Given the description of an element on the screen output the (x, y) to click on. 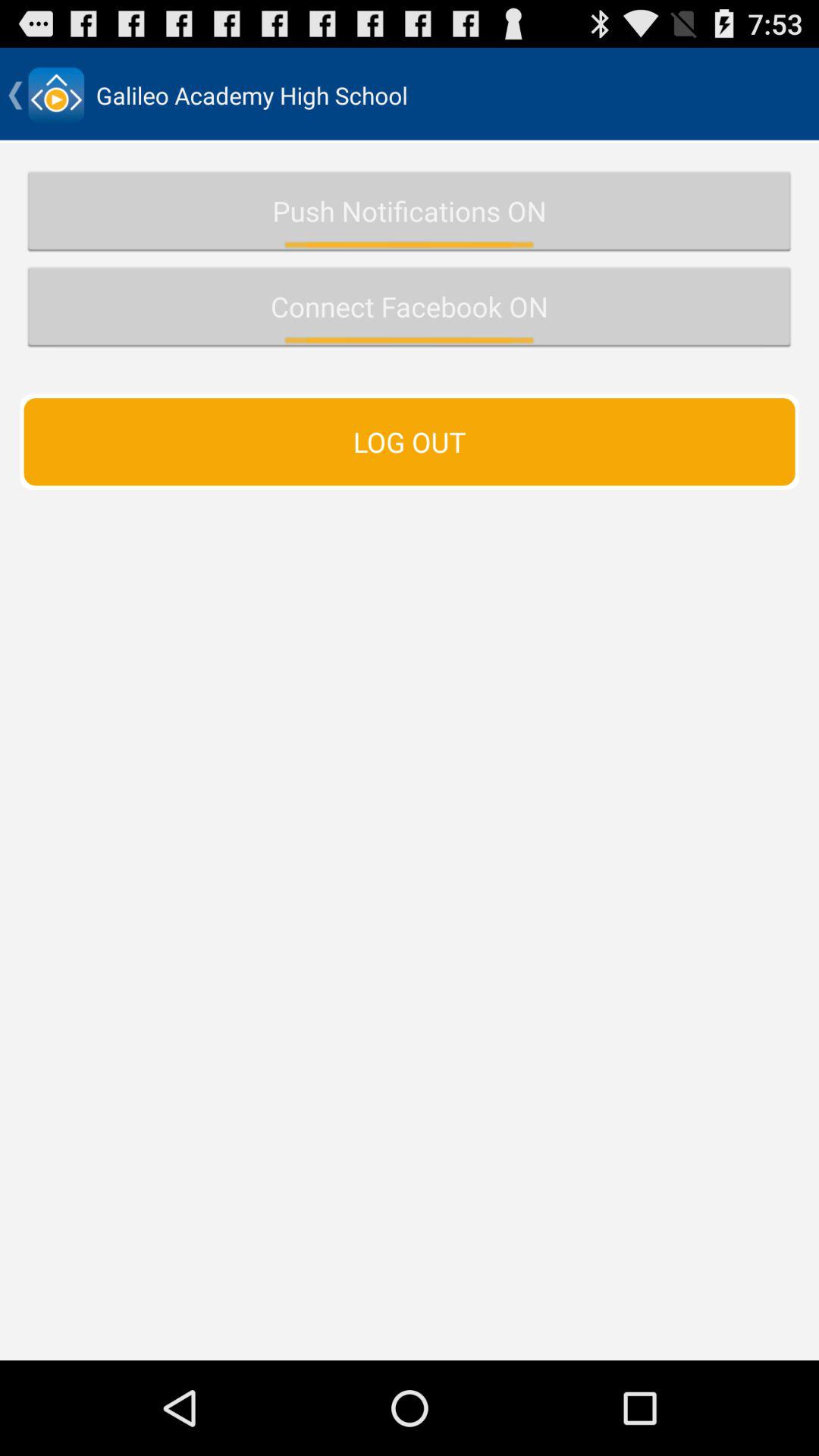
swipe to log out button (409, 441)
